Given the description of an element on the screen output the (x, y) to click on. 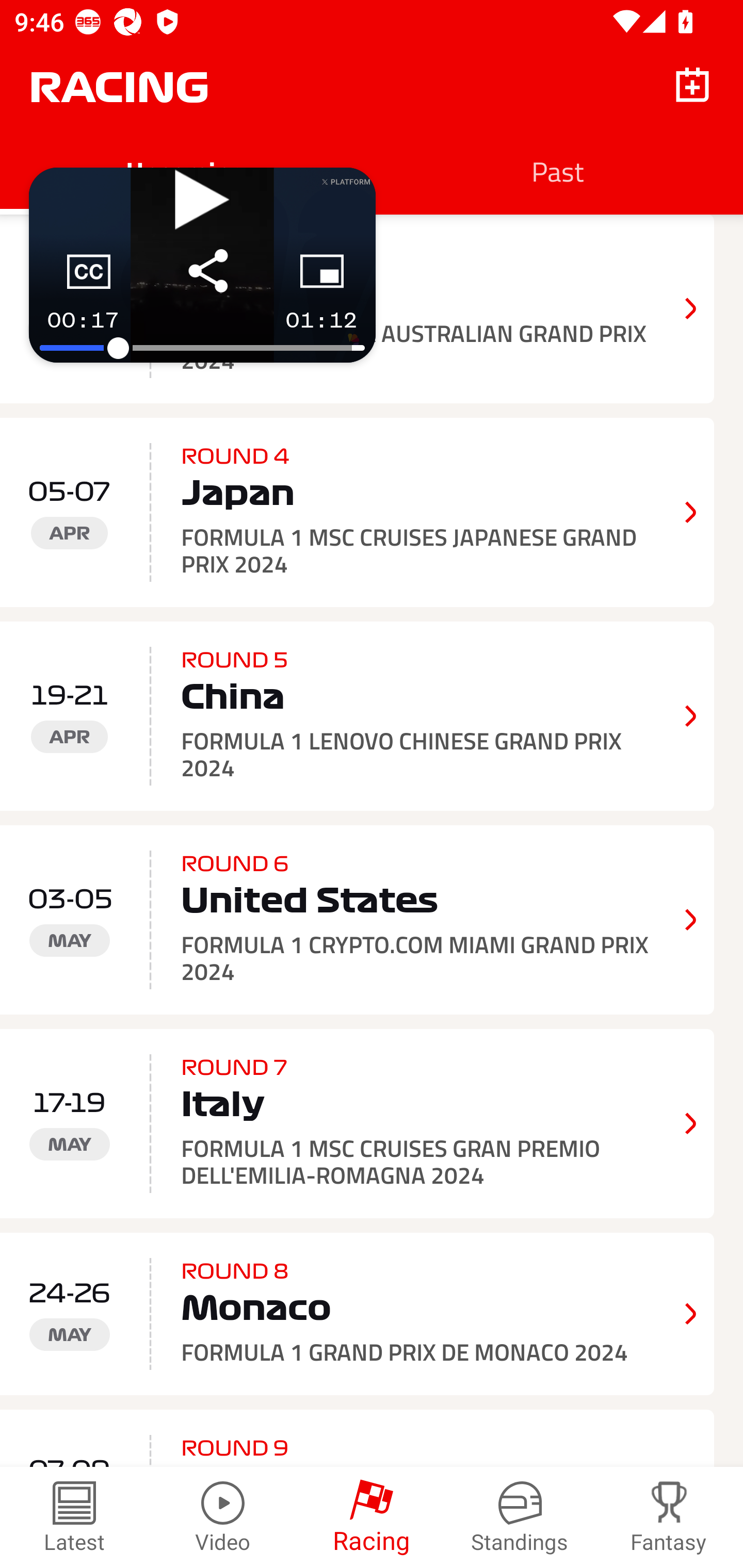
Past (557, 171)
Latest (74, 1517)
Video (222, 1517)
Standings (519, 1517)
Fantasy (668, 1517)
